Given the description of an element on the screen output the (x, y) to click on. 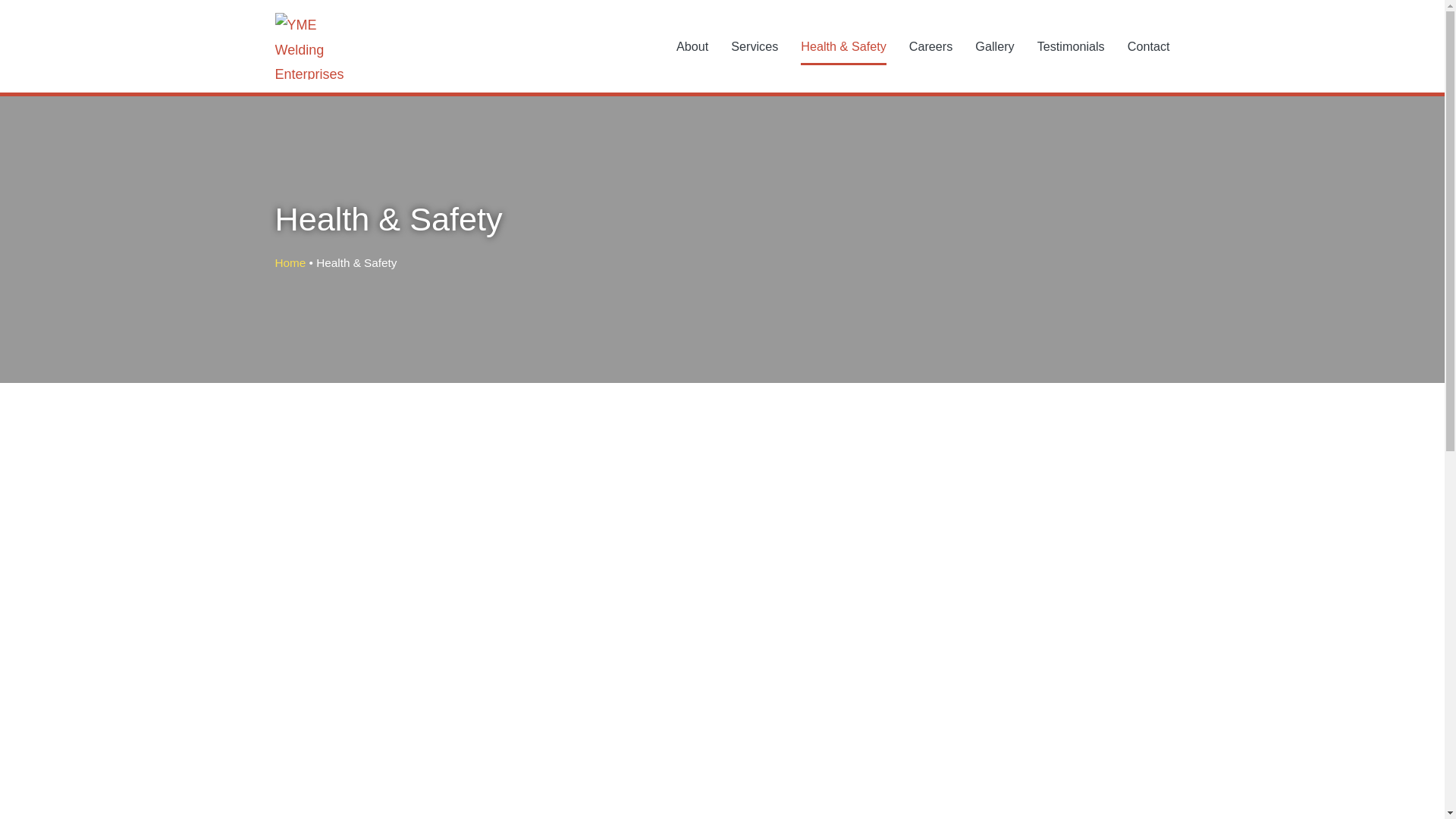
Careers (930, 46)
Home (290, 262)
Gallery (994, 46)
Services (753, 46)
Contact (1148, 46)
Testimonials (1070, 46)
